Given the description of an element on the screen output the (x, y) to click on. 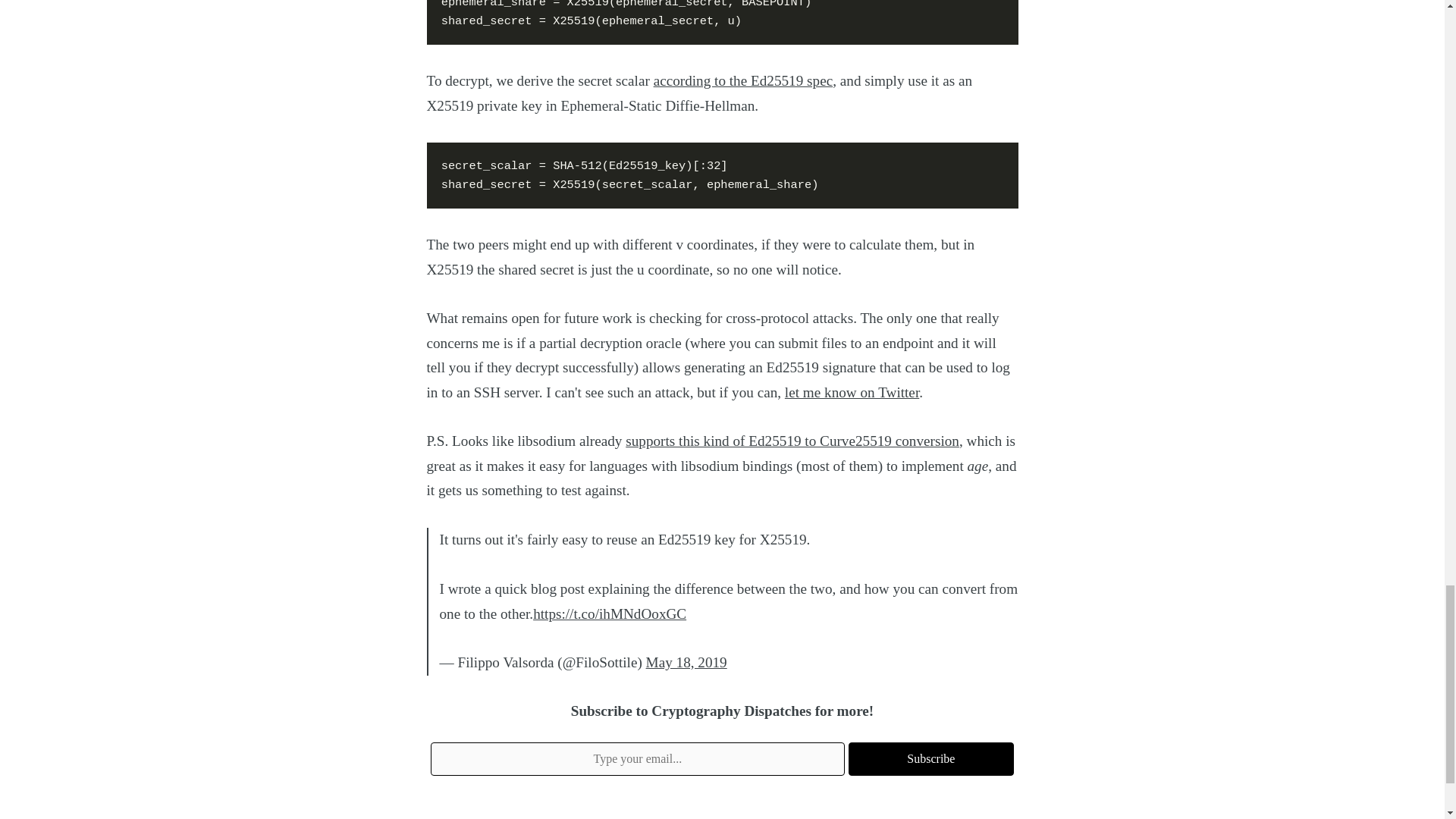
Subscribe (930, 758)
supports this kind of Ed25519 to Curve25519 conversion (792, 440)
let me know on Twitter (851, 392)
May 18, 2019 (686, 662)
according to the Ed25519 spec (742, 80)
